Given the description of an element on the screen output the (x, y) to click on. 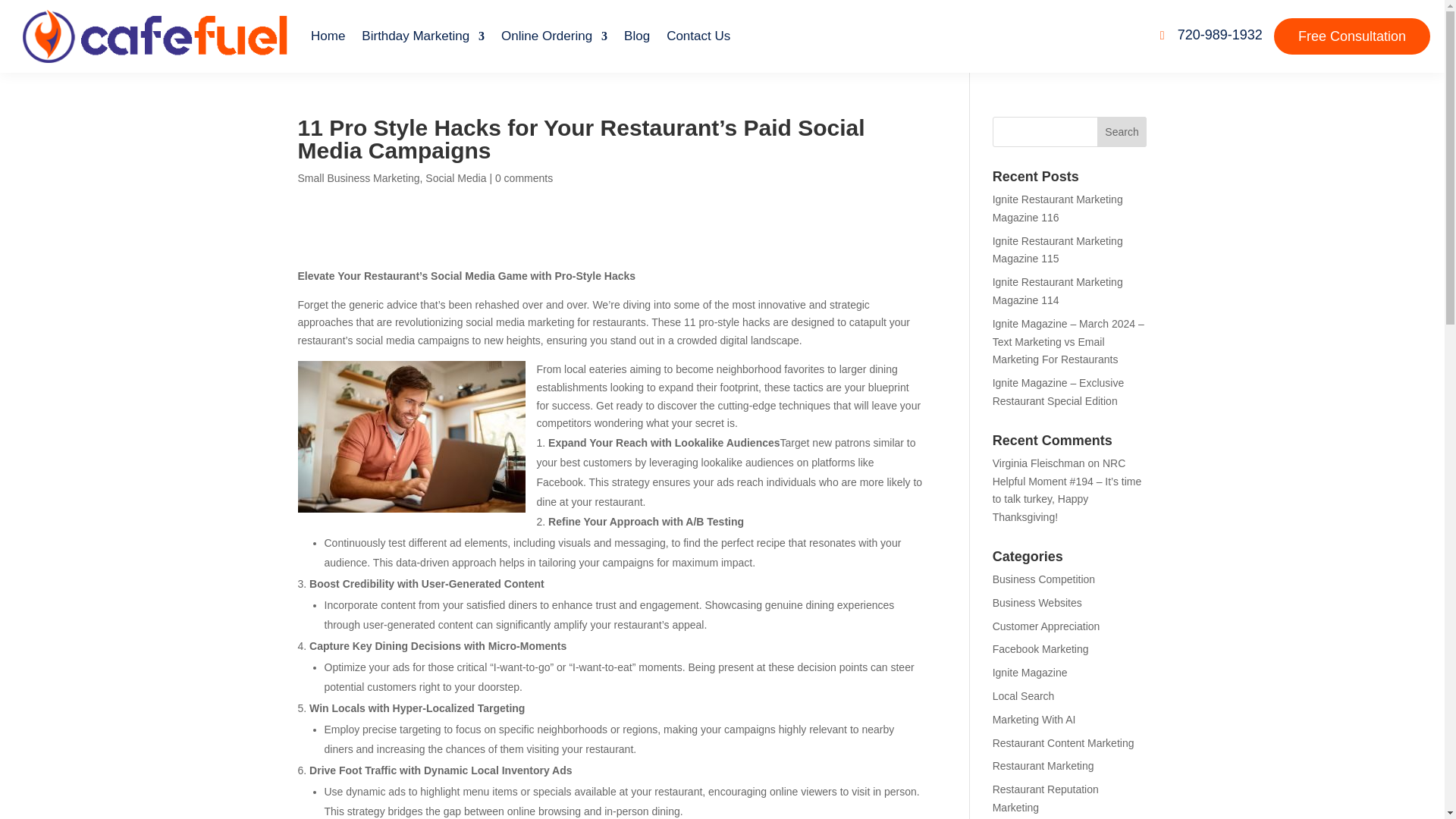
720-989-1932 (1212, 36)
Birthday Marketing (422, 36)
Home (328, 36)
Blog (636, 36)
Online Ordering (553, 36)
Free Consultation (1351, 36)
Contact Us (698, 36)
Search (1122, 132)
